Given the description of an element on the screen output the (x, y) to click on. 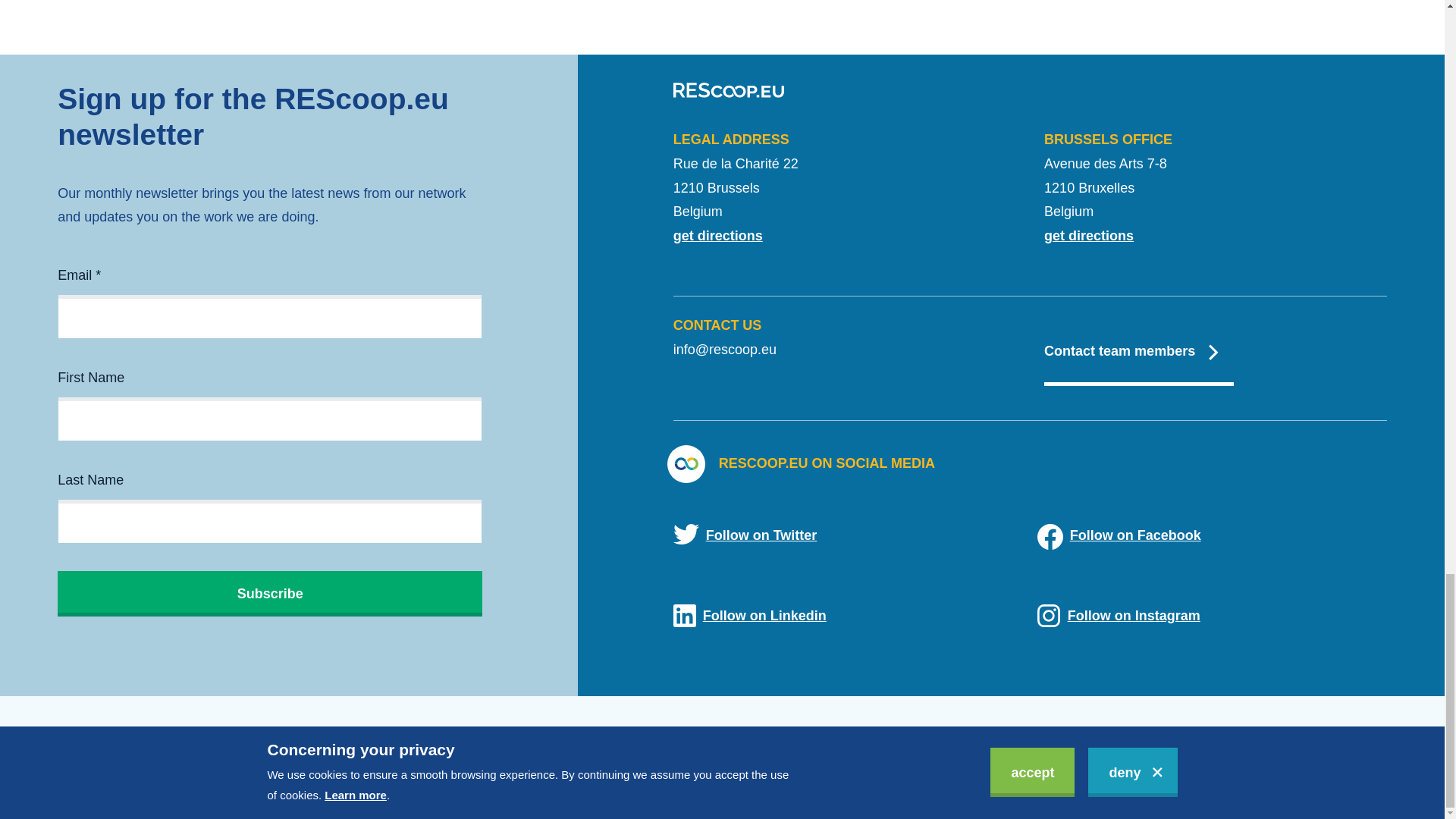
services (194, 730)
the REScoop model (100, 730)
Contact team members (1138, 350)
Follow on Linkedin (847, 616)
EU projects (326, 730)
get directions (1088, 235)
Subscribe (269, 593)
Follow on Instagram (1211, 616)
Follow on Facebook (1211, 536)
Subscribe (269, 593)
